Given the description of an element on the screen output the (x, y) to click on. 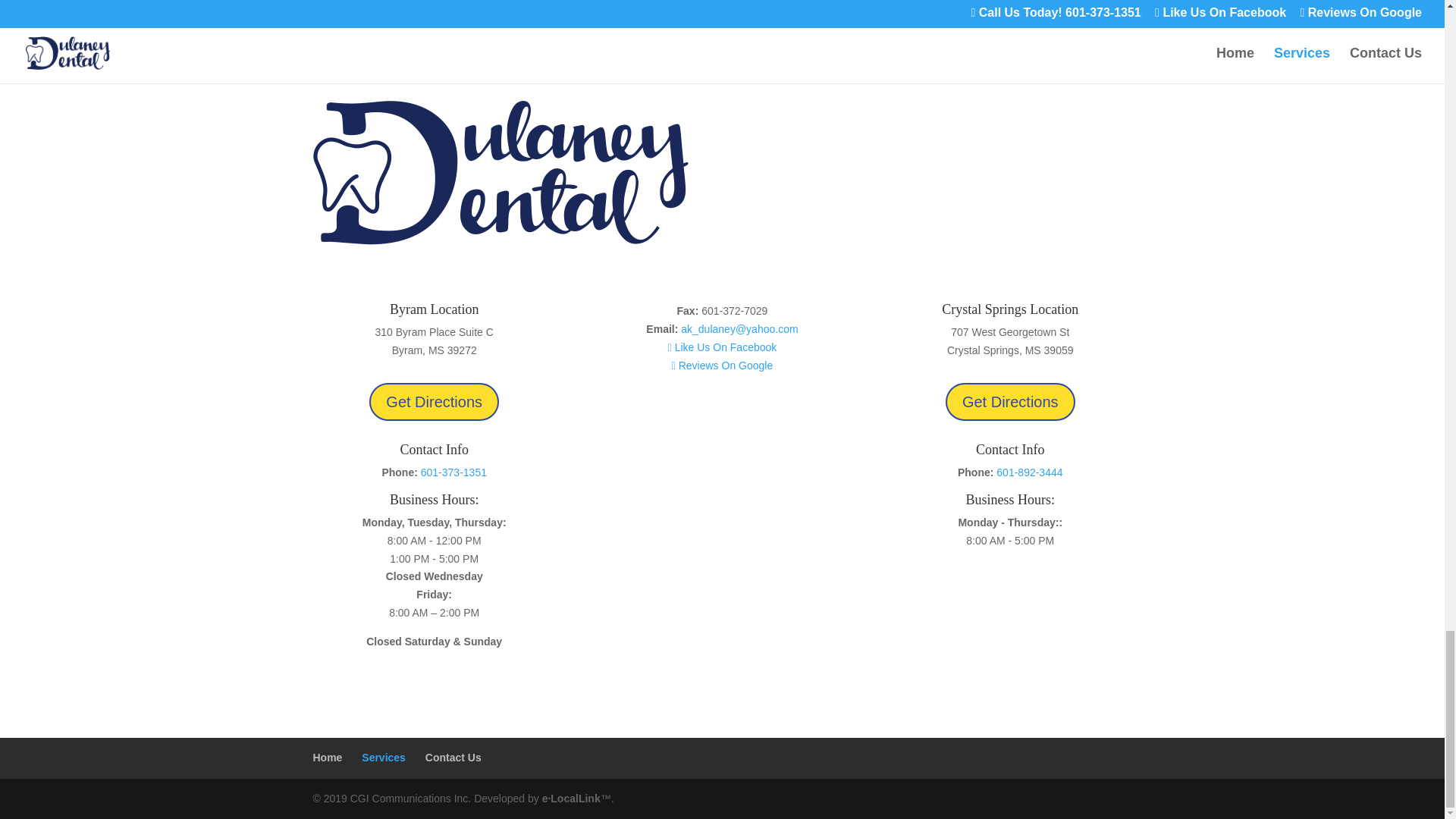
601-892-3444 (1028, 472)
Services (383, 757)
Contact Us (453, 757)
601-373-1351 (453, 472)
Reviews On Google (722, 365)
Get Directions (434, 401)
Home (327, 757)
Like Us On Facebook (722, 346)
Get Directions (1009, 401)
